Given the description of an element on the screen output the (x, y) to click on. 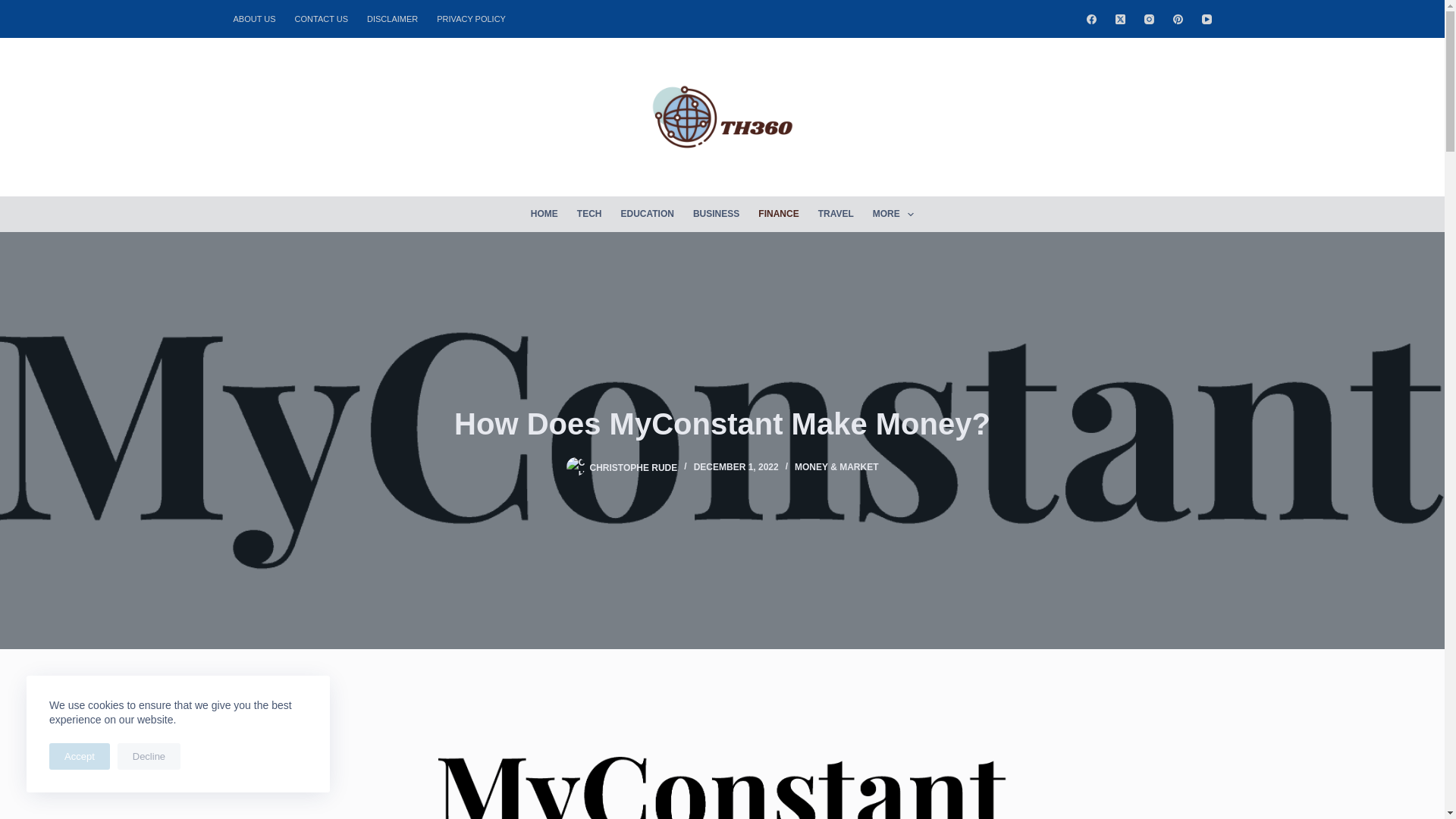
ABOUT US (258, 18)
TECH (589, 213)
Decline (148, 755)
PRIVACY POLICY (471, 18)
DISCLAIMER (393, 18)
MORE (893, 213)
EDUCATION (646, 213)
HOME (544, 213)
FINANCE (778, 213)
Posts by Christophe Rude (633, 466)
